Given the description of an element on the screen output the (x, y) to click on. 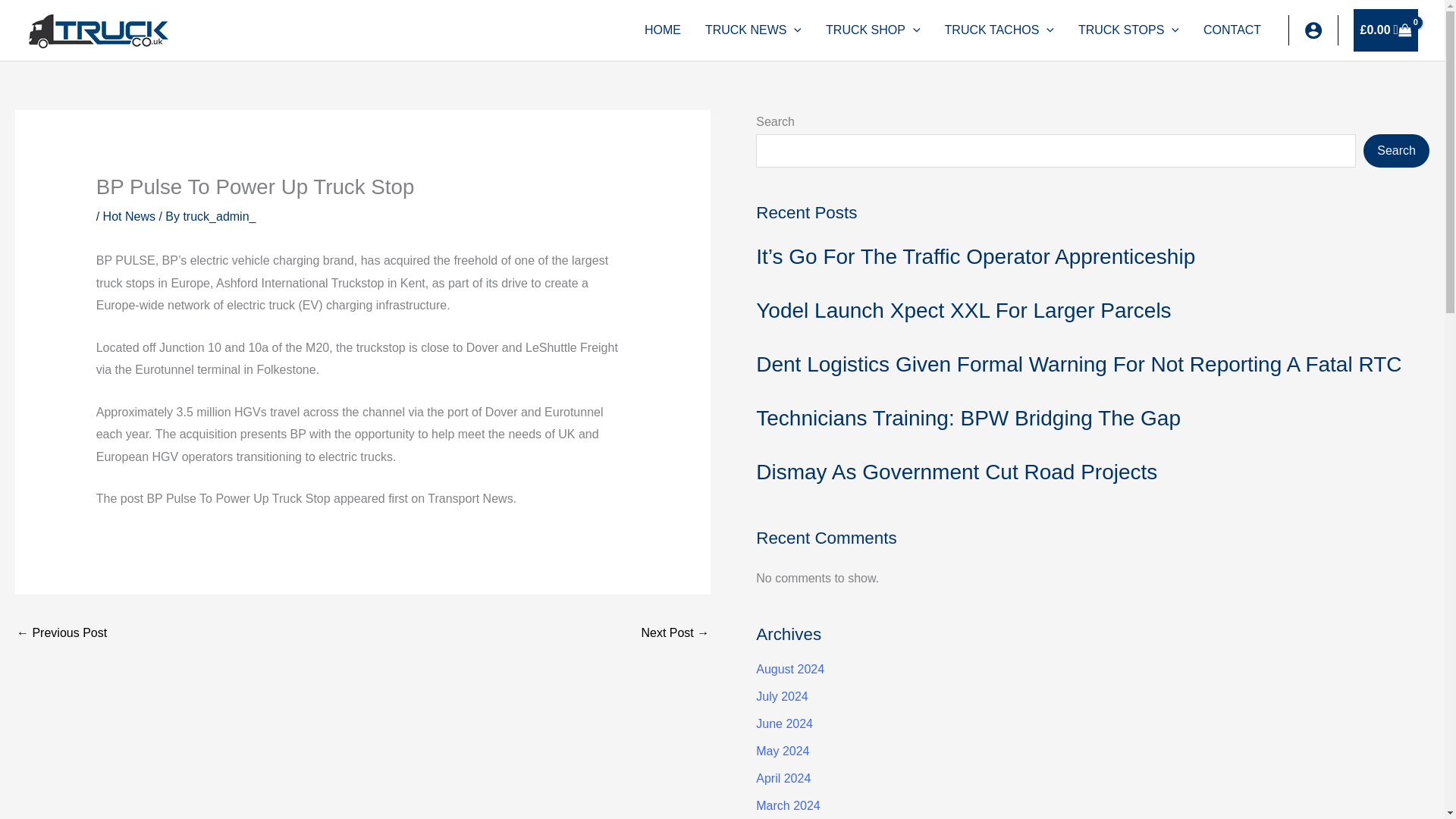
HOME (662, 30)
CONTACT (1231, 30)
Truck Buying: Interest Rates (61, 633)
TRUCK STOPS (1128, 30)
Volvo Trucks: Supersize Me (674, 633)
TRUCK TACHOS (999, 30)
TRUCK NEWS (753, 30)
TRUCK SHOP (873, 30)
